Given the description of an element on the screen output the (x, y) to click on. 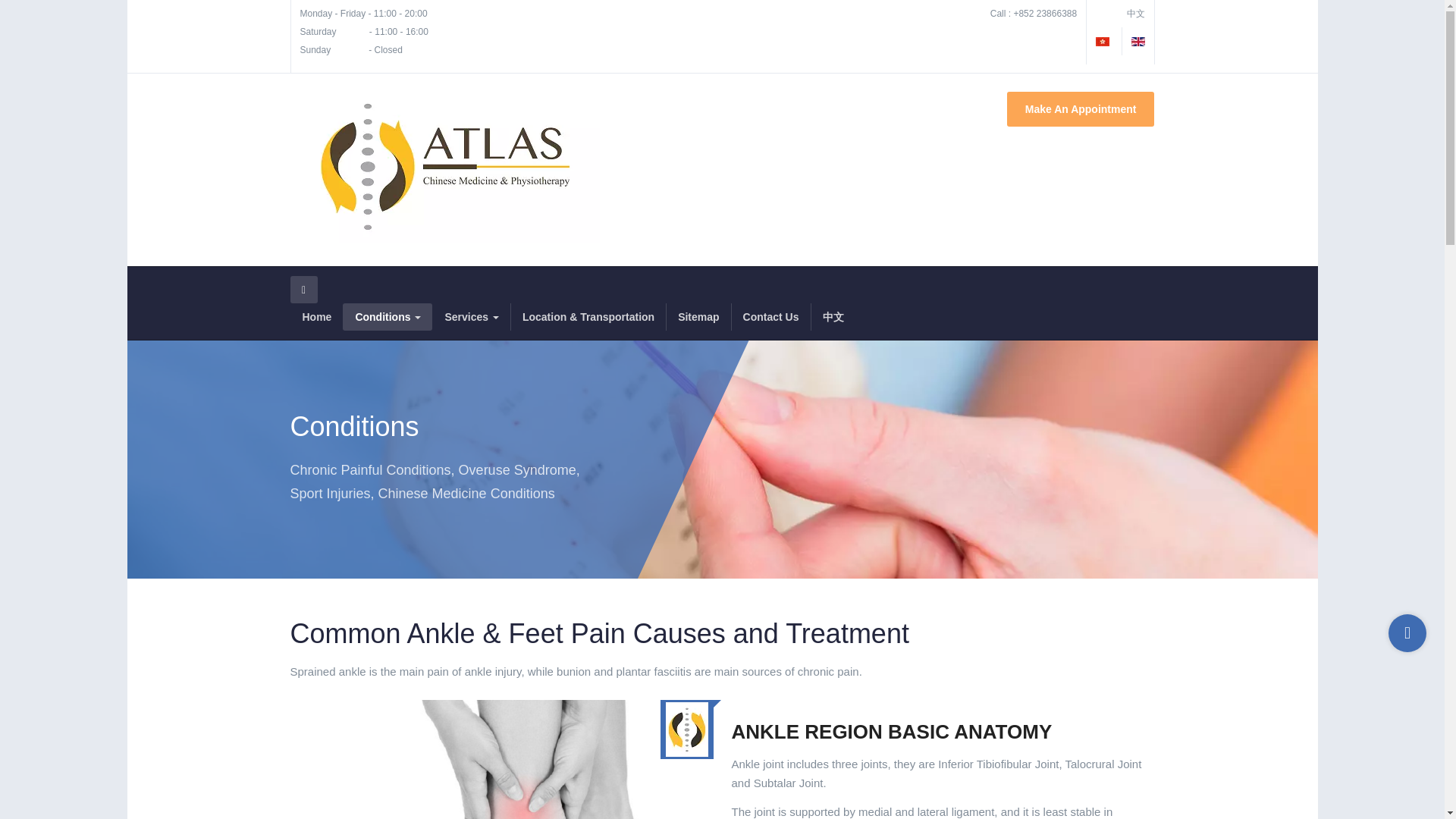
Home (315, 316)
Make An Appointment (1080, 108)
Conditions (387, 316)
Addthis (1407, 632)
